Given the description of an element on the screen output the (x, y) to click on. 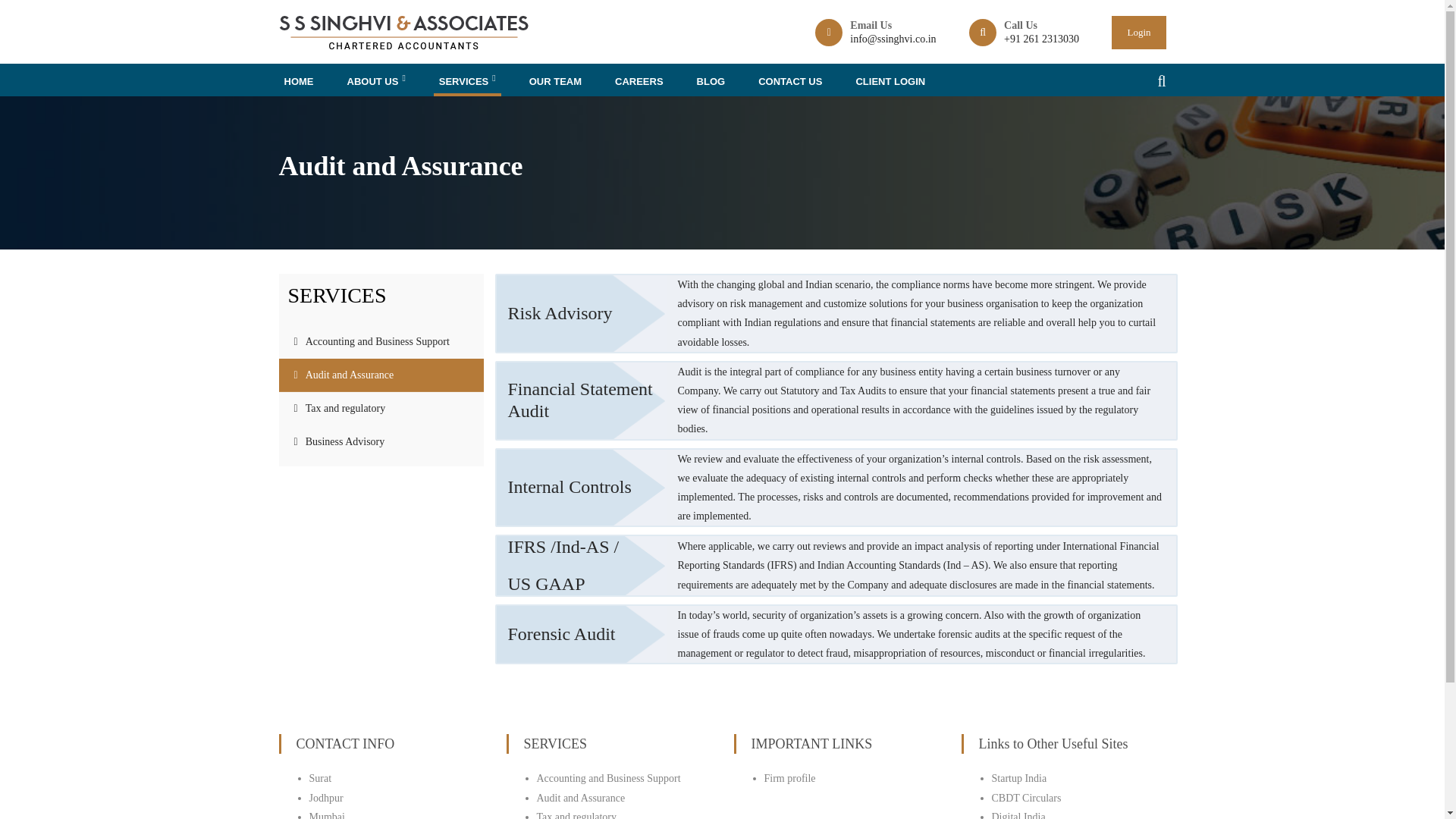
OUR TEAM (555, 81)
Login (1139, 32)
HOME (298, 81)
Login (1139, 32)
BLOG (710, 81)
ABOUT US (375, 79)
CONTACT US (789, 81)
CLIENT LOGIN (890, 81)
SERVICES (466, 79)
CAREERS (639, 81)
